Given the description of an element on the screen output the (x, y) to click on. 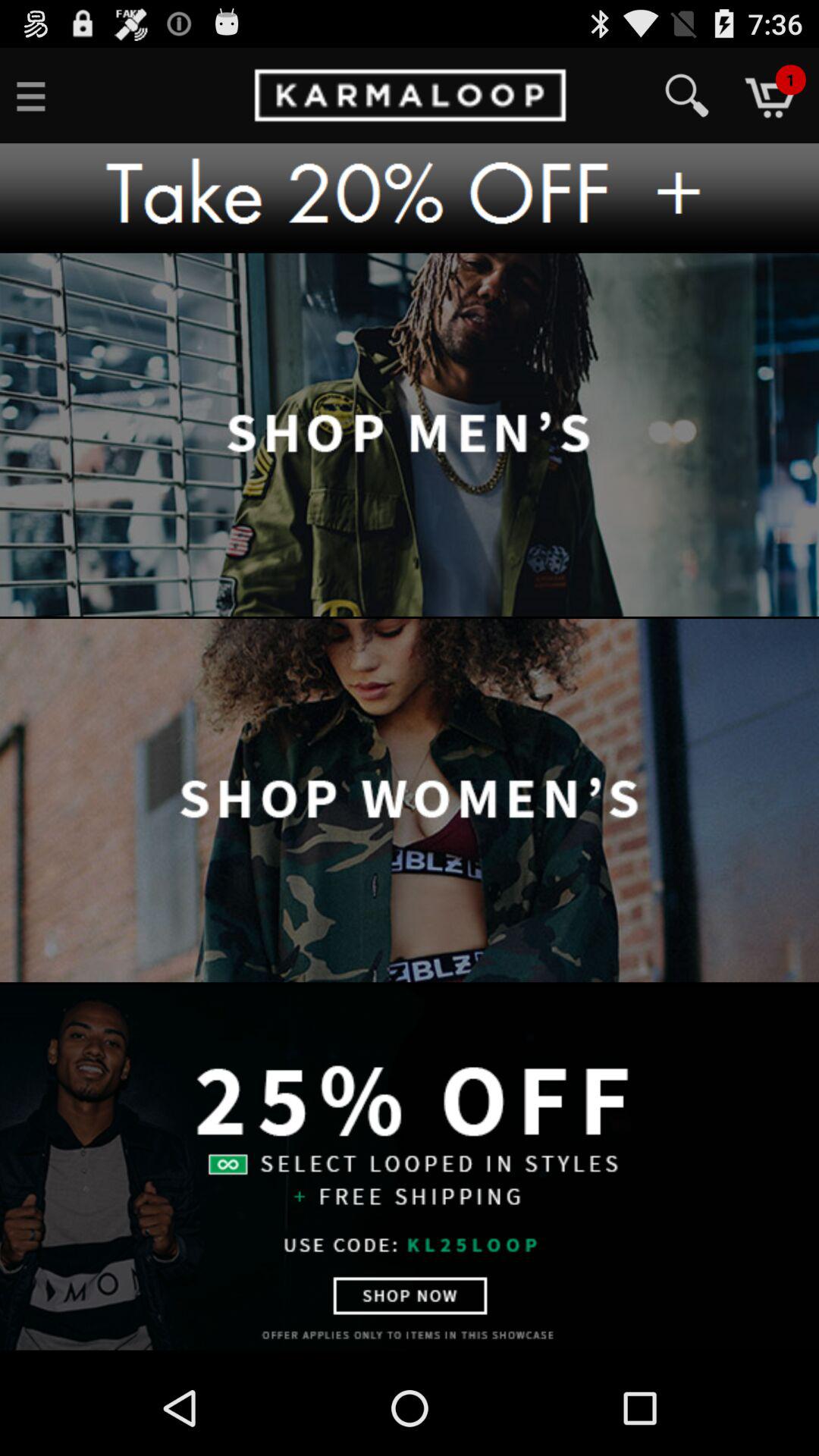
select women 's clothes (409, 801)
